Given the description of an element on the screen output the (x, y) to click on. 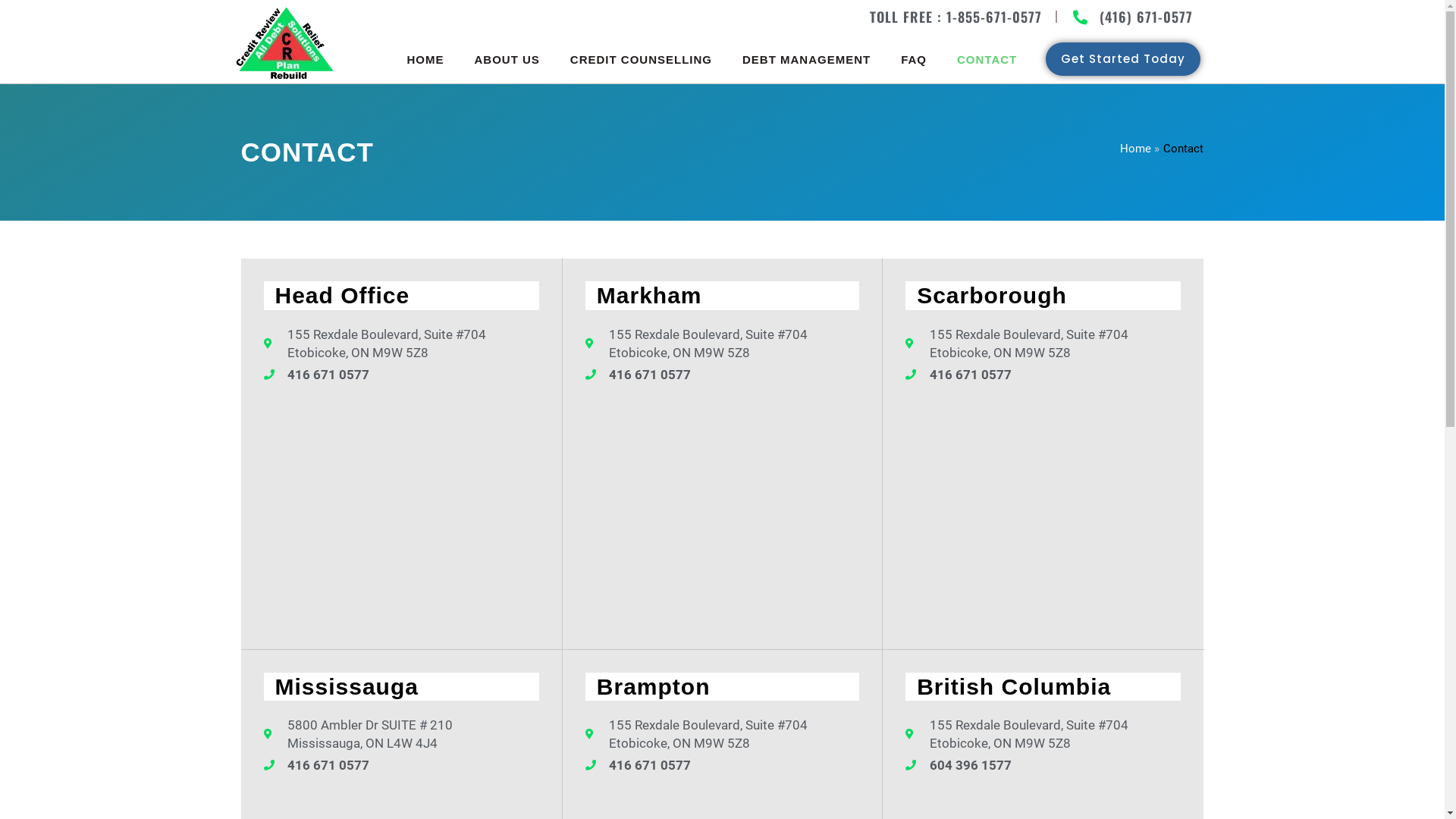
155 Rexdale Boulevard, Suite #704 Etobicoke, ON M9W 5Z8 Element type: hover (401, 512)
ABOUT US Element type: text (506, 58)
416 671 0577 Element type: text (401, 374)
CREDIT COUNSELLING Element type: text (641, 58)
HOME Element type: text (424, 58)
CONTACT Element type: text (986, 58)
7181 Yong Street unit # 96 Markaham ON  L3T0L7 Element type: hover (722, 512)
416 671 0577 Element type: text (722, 765)
2100 Ellesmere Rd, Suite #211 E Scarborough, ON, M1H 3B7 Element type: hover (1042, 512)
DEBT MANAGEMENT Element type: text (806, 58)
416 671 0577 Element type: text (1042, 374)
Get Started Today Element type: text (1122, 58)
(416) 671-0577 Element type: text (1131, 16)
416 671 0577 Element type: text (401, 765)
FAQ Element type: text (913, 58)
Home Element type: text (1135, 147)
416 671 0577 Element type: text (722, 374)
604 396 1577 Element type: text (1042, 765)
TOLL FREE : 1-855-671-0577 Element type: text (955, 16)
